Given the description of an element on the screen output the (x, y) to click on. 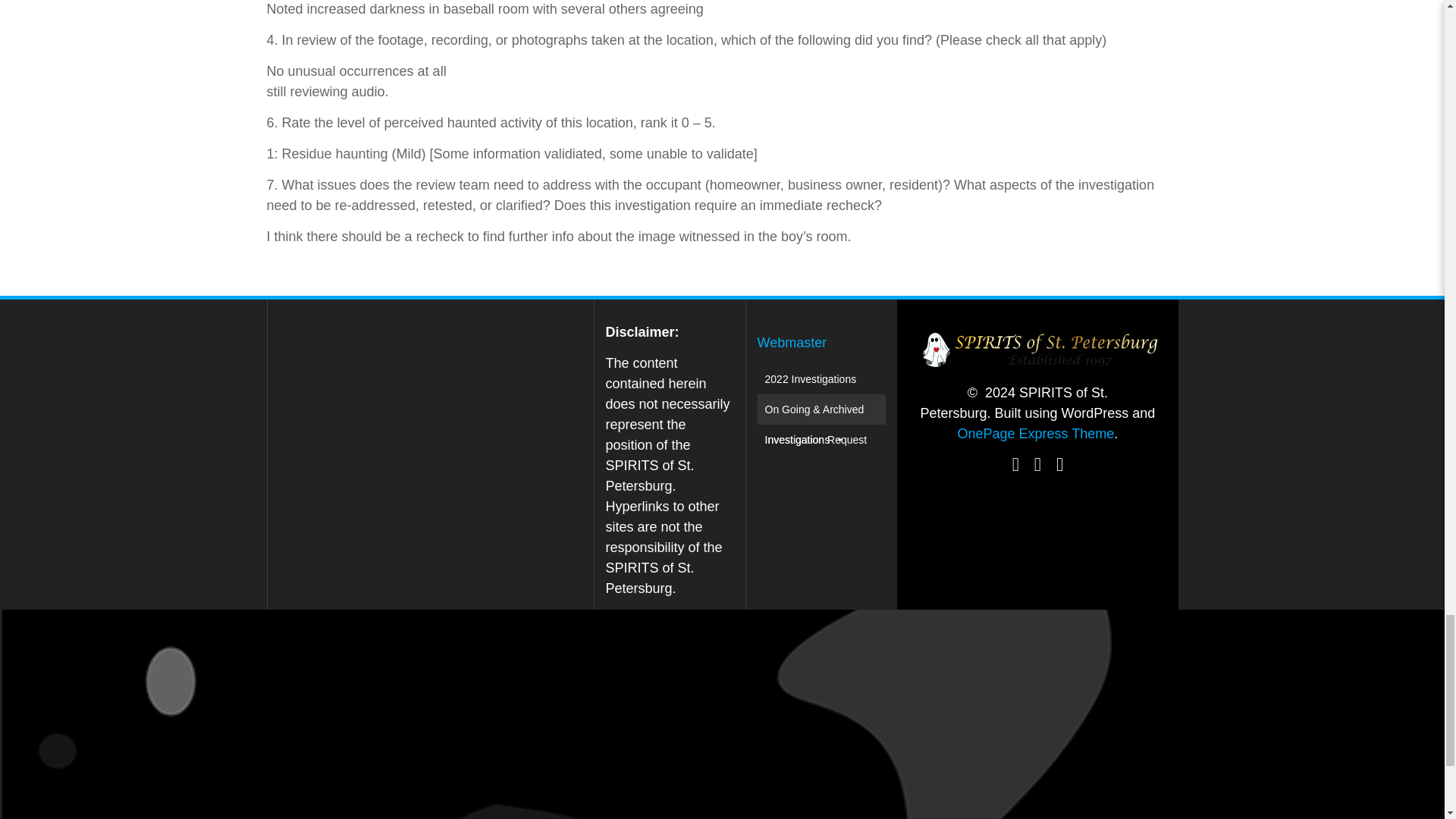
2022 Investigations (810, 378)
Webmaster (792, 342)
OnePage Express Theme (1034, 433)
Investigation Request (816, 440)
